Given the description of an element on the screen output the (x, y) to click on. 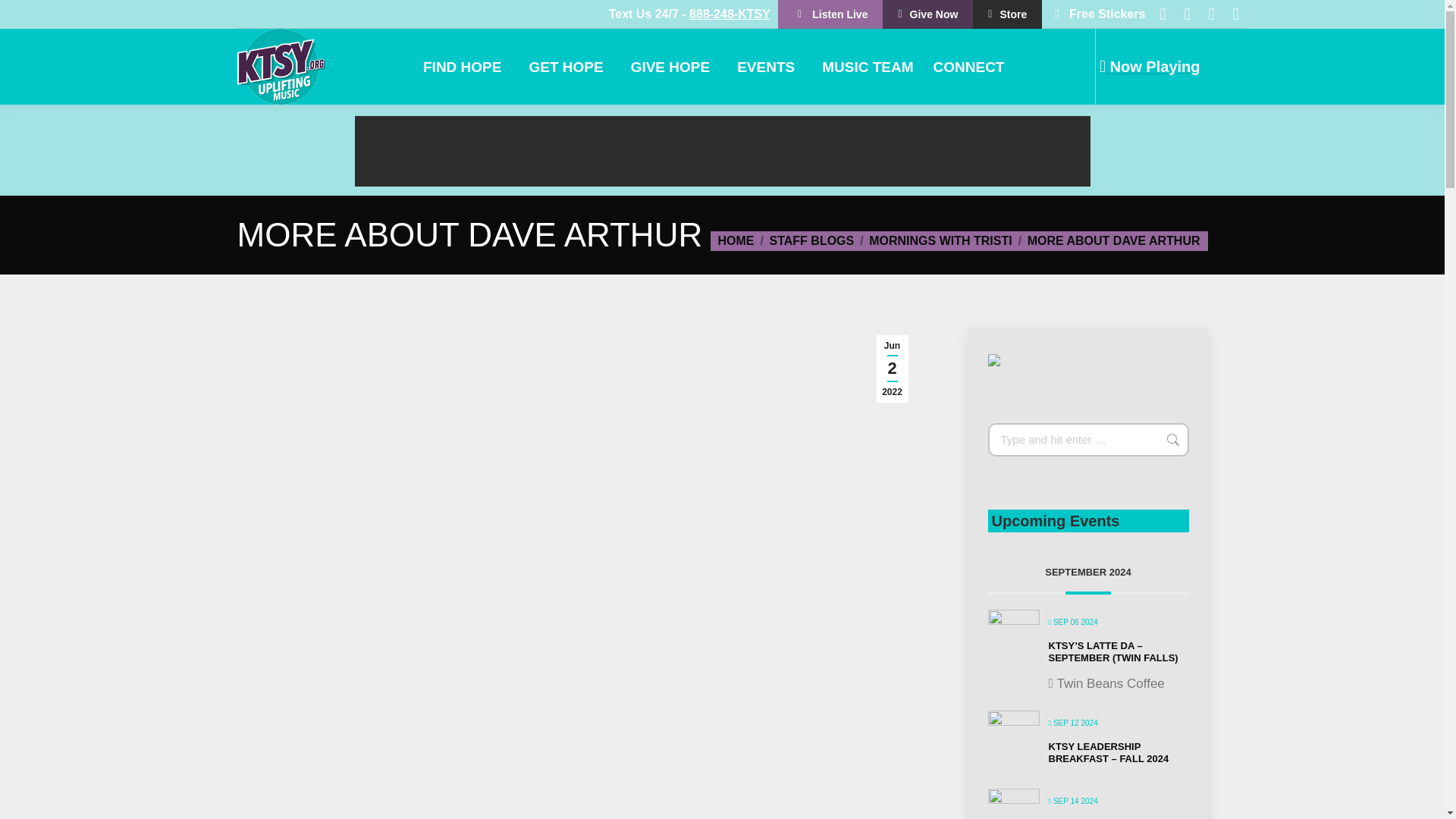
Go! (1164, 439)
FIND HOPE (465, 66)
Give Now (927, 14)
Listen Live (830, 14)
Facebook page opens in new window (1162, 14)
888-248-KTSY (729, 13)
Mornings With Tristi (940, 239)
Instagram page opens in new window (1234, 14)
Pinterest page opens in new window (1211, 14)
Join The Music Team (866, 66)
